Given the description of an element on the screen output the (x, y) to click on. 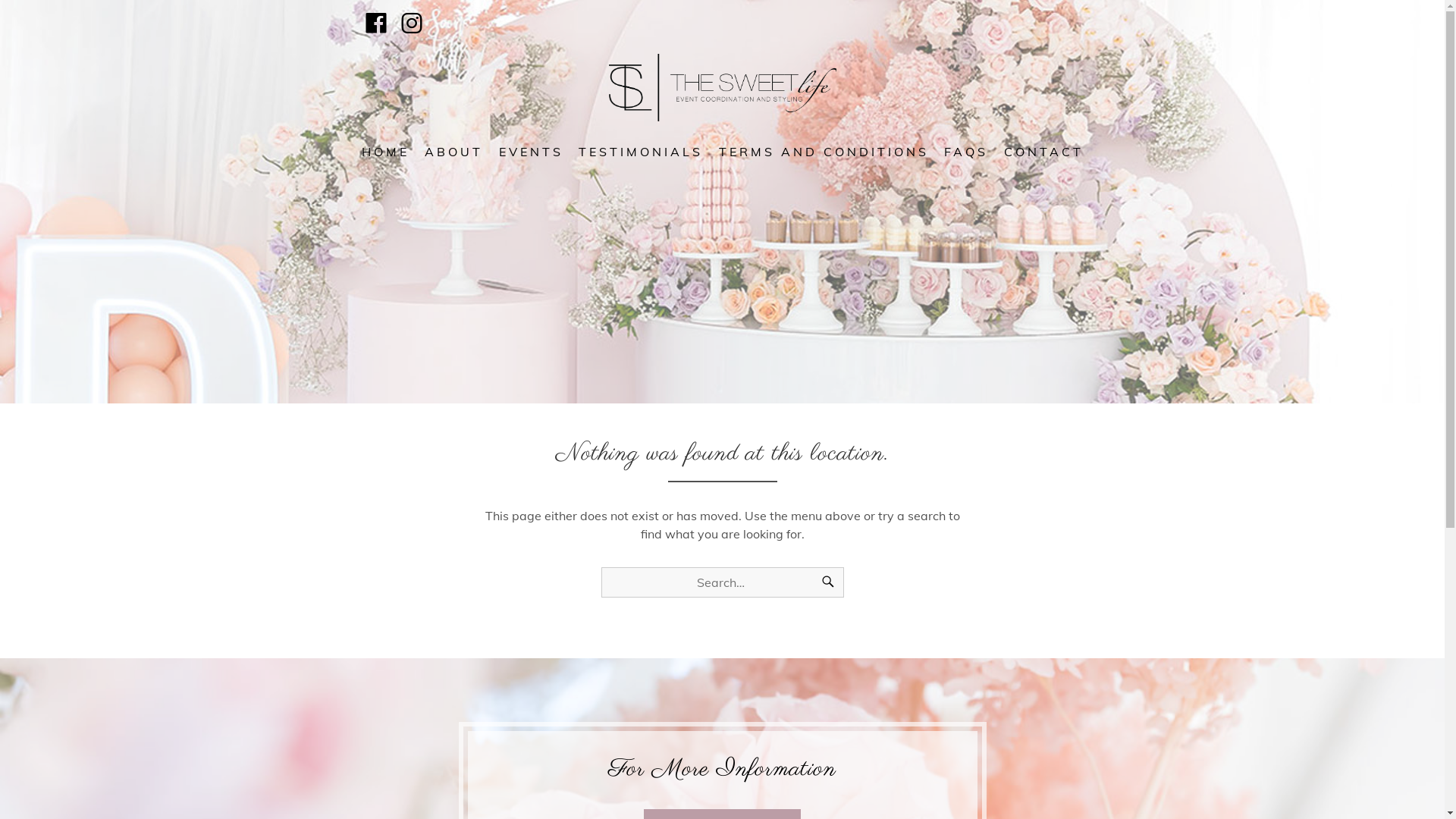
EVENTS Element type: text (530, 151)
TESTIMONIALS Element type: text (640, 151)
Search Element type: hover (827, 582)
HOME Element type: text (384, 151)
FAQS Element type: text (966, 151)
TERMS AND CONDITIONS Element type: text (823, 151)
ABOUT Element type: text (453, 151)
CONTACT Element type: text (1043, 151)
